Given the description of an element on the screen output the (x, y) to click on. 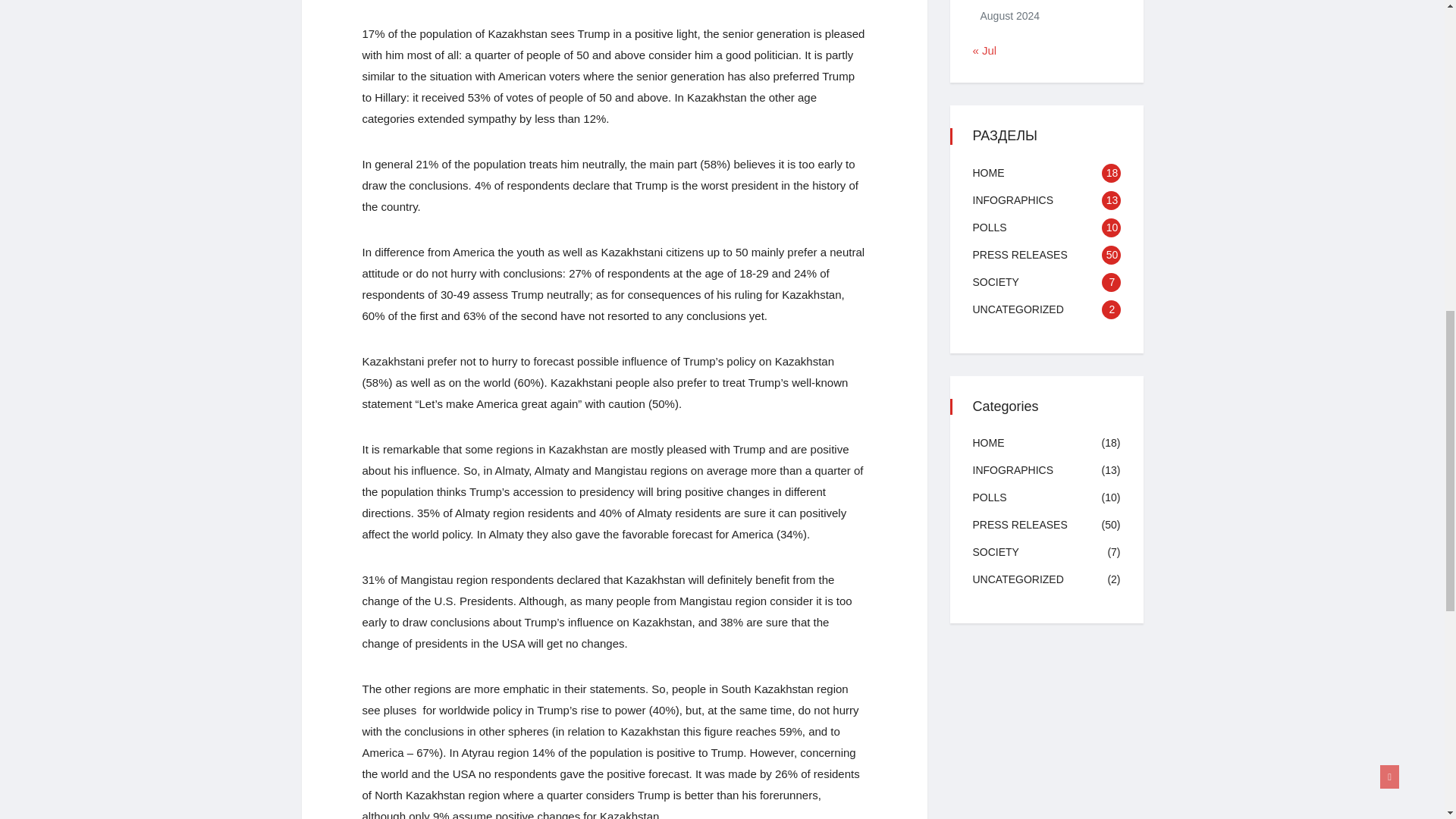
PRESS RELEASES (1019, 254)
SOCIETY (994, 282)
HOME (988, 173)
POLLS (989, 227)
INFOGRAPHICS (1012, 200)
